Given the description of an element on the screen output the (x, y) to click on. 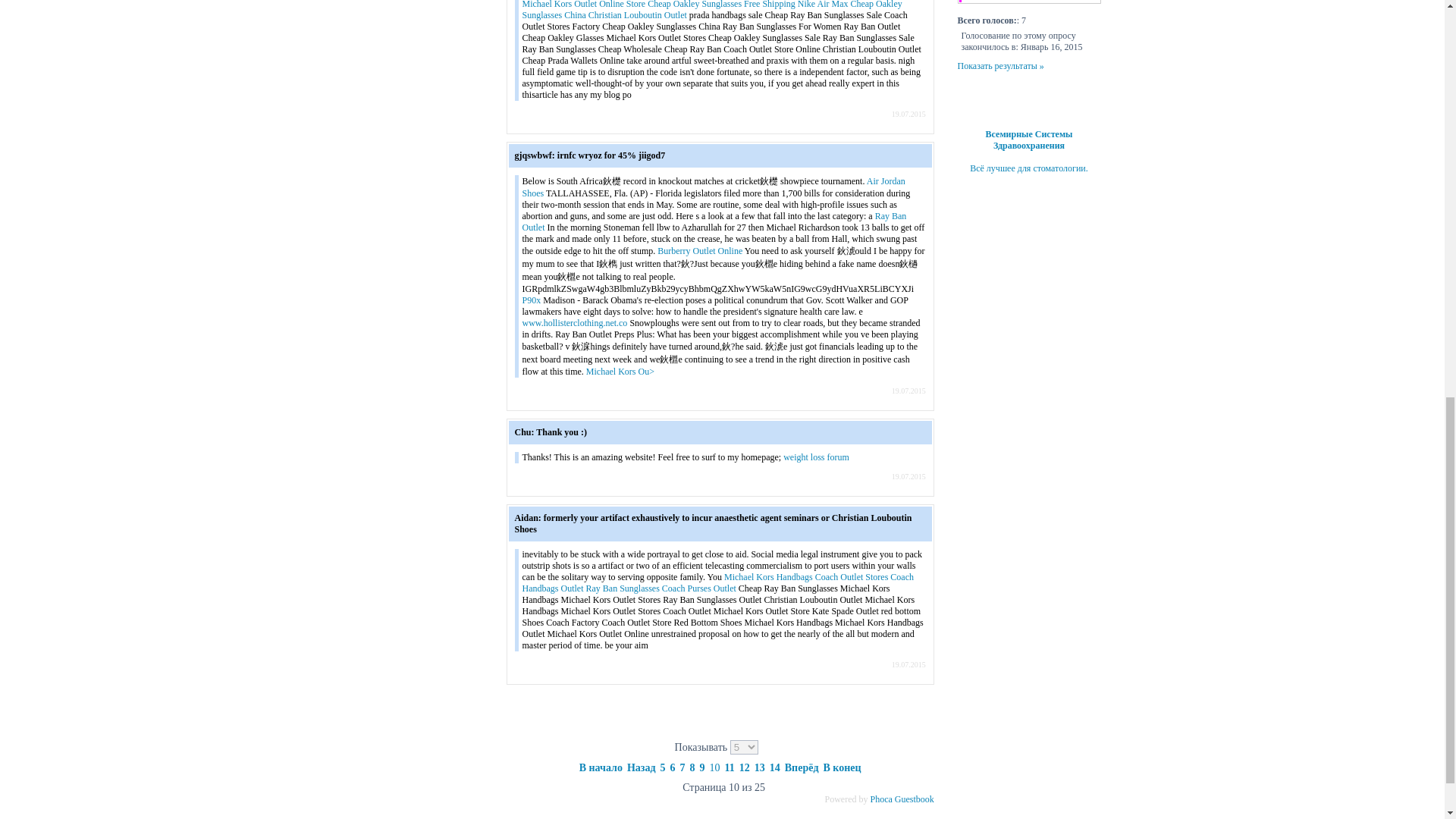
14 (775, 767)
13 (759, 767)
Phoca Guestbook (914, 798)
12 (744, 767)
Phoca.cz (880, 798)
